Given the description of an element on the screen output the (x, y) to click on. 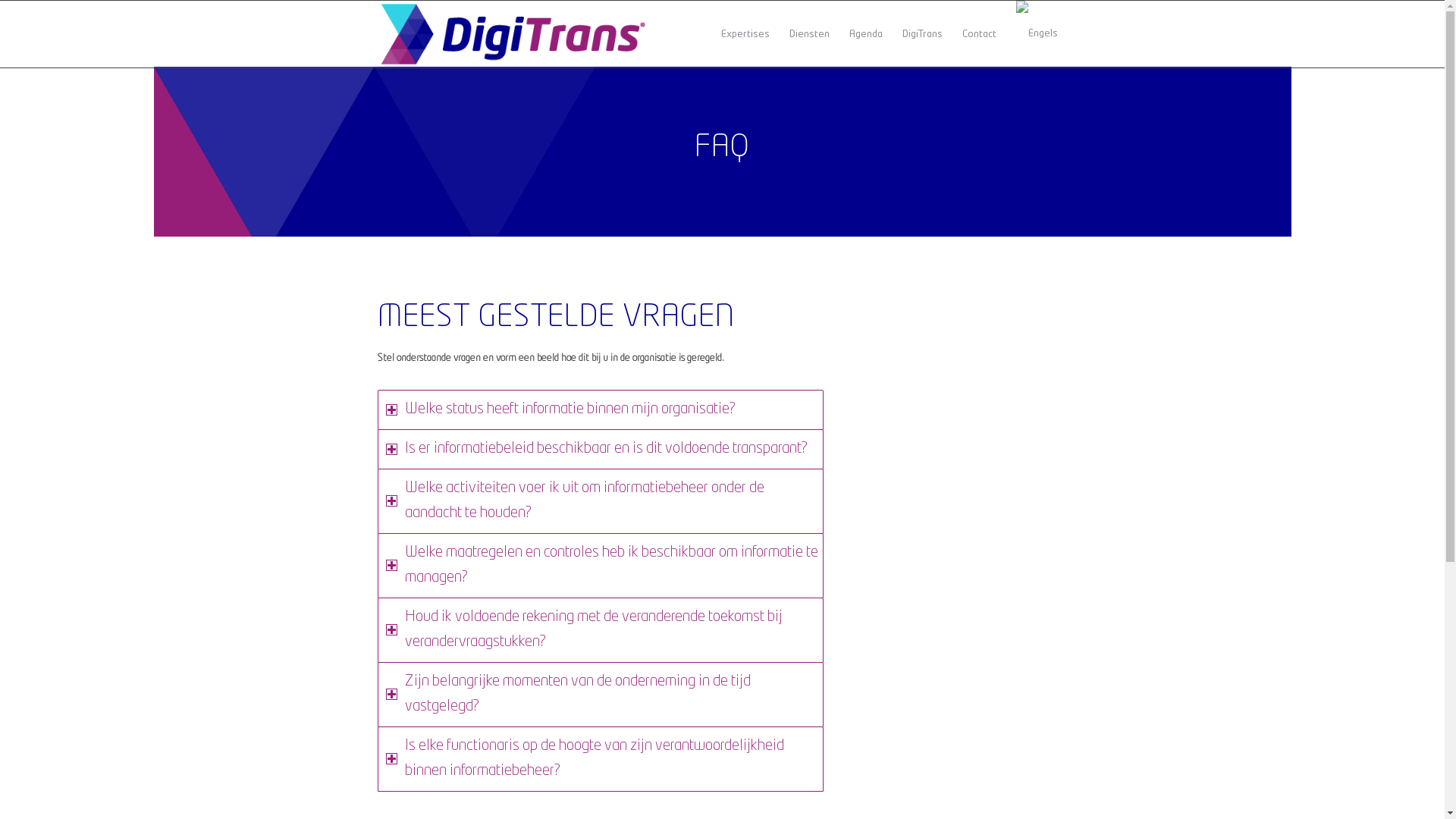
DigiTrans Element type: text (921, 33)
Diensten Element type: text (809, 33)
Expertises Element type: text (745, 33)
Contact Element type: text (979, 33)
colour Element type: hover (513, 33)
Agenda Element type: text (864, 33)
